Given the description of an element on the screen output the (x, y) to click on. 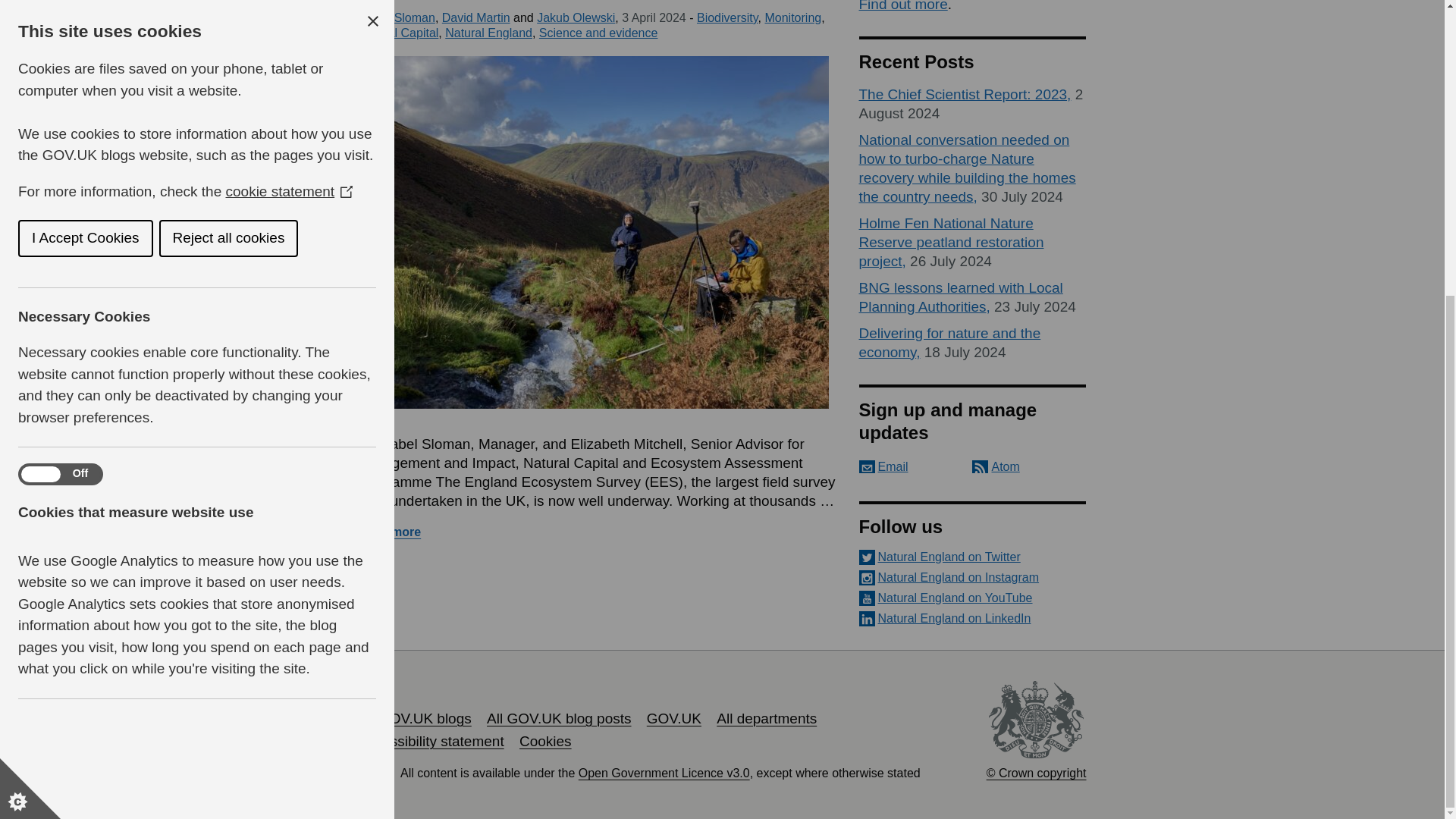
Jakub Olewski (575, 17)
Atom (995, 466)
David Martin (476, 17)
Posts by David Martin (476, 17)
Cookies (545, 741)
The Chief Scientist Report: 2023 (964, 94)
Natural England (488, 32)
Biodiversity (727, 17)
Delivering for nature and the economy (950, 342)
All departments (766, 718)
Natural Capital (398, 32)
Posts by Isabel Sloman (395, 17)
Monitoring (792, 17)
Natural England on YouTube (972, 598)
